Given the description of an element on the screen output the (x, y) to click on. 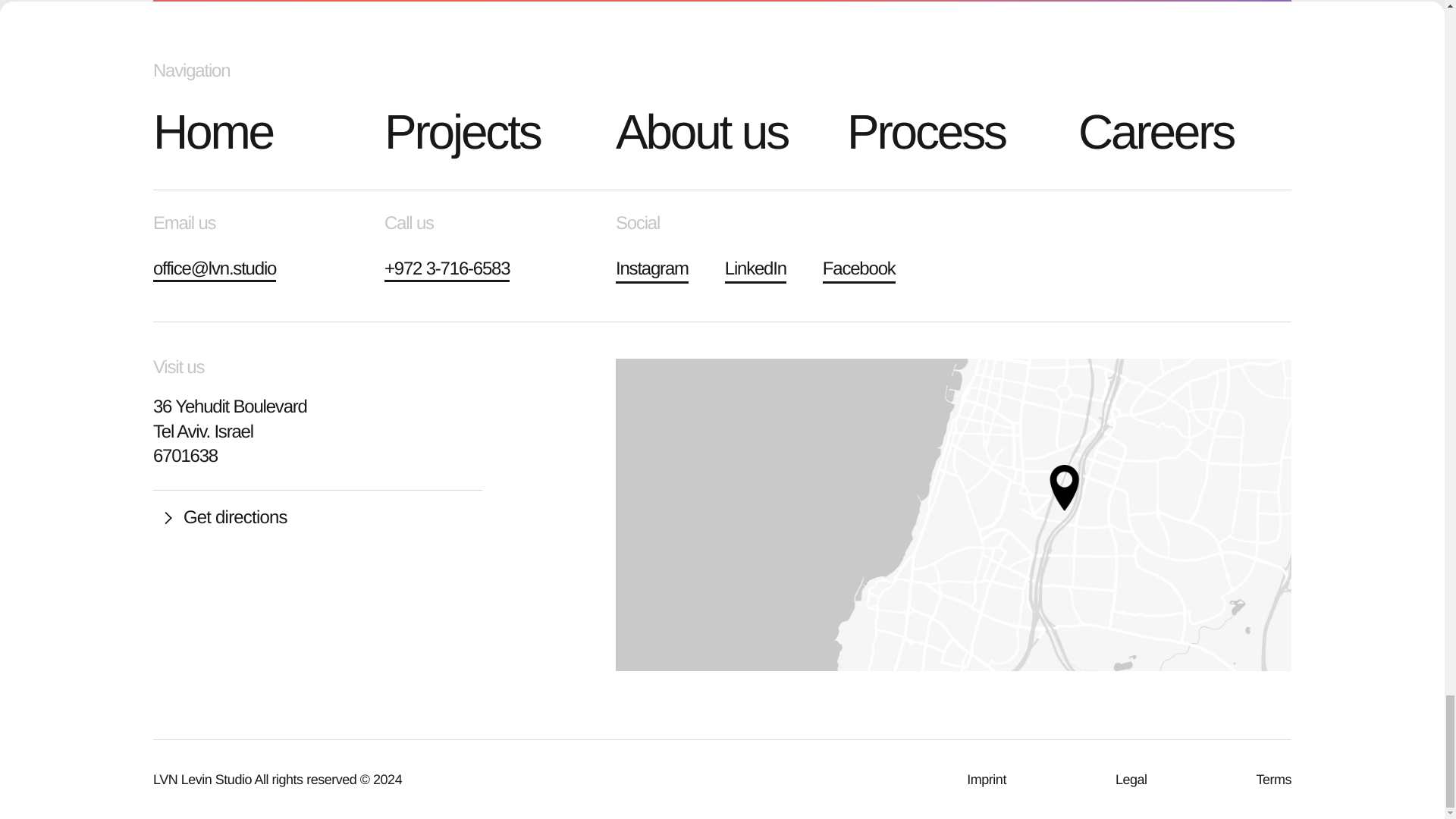
LinkedIn (755, 269)
Process (953, 131)
Projects (490, 131)
About us (721, 131)
Instagram (652, 269)
Home (259, 131)
Careers (1184, 131)
